Given the description of an element on the screen output the (x, y) to click on. 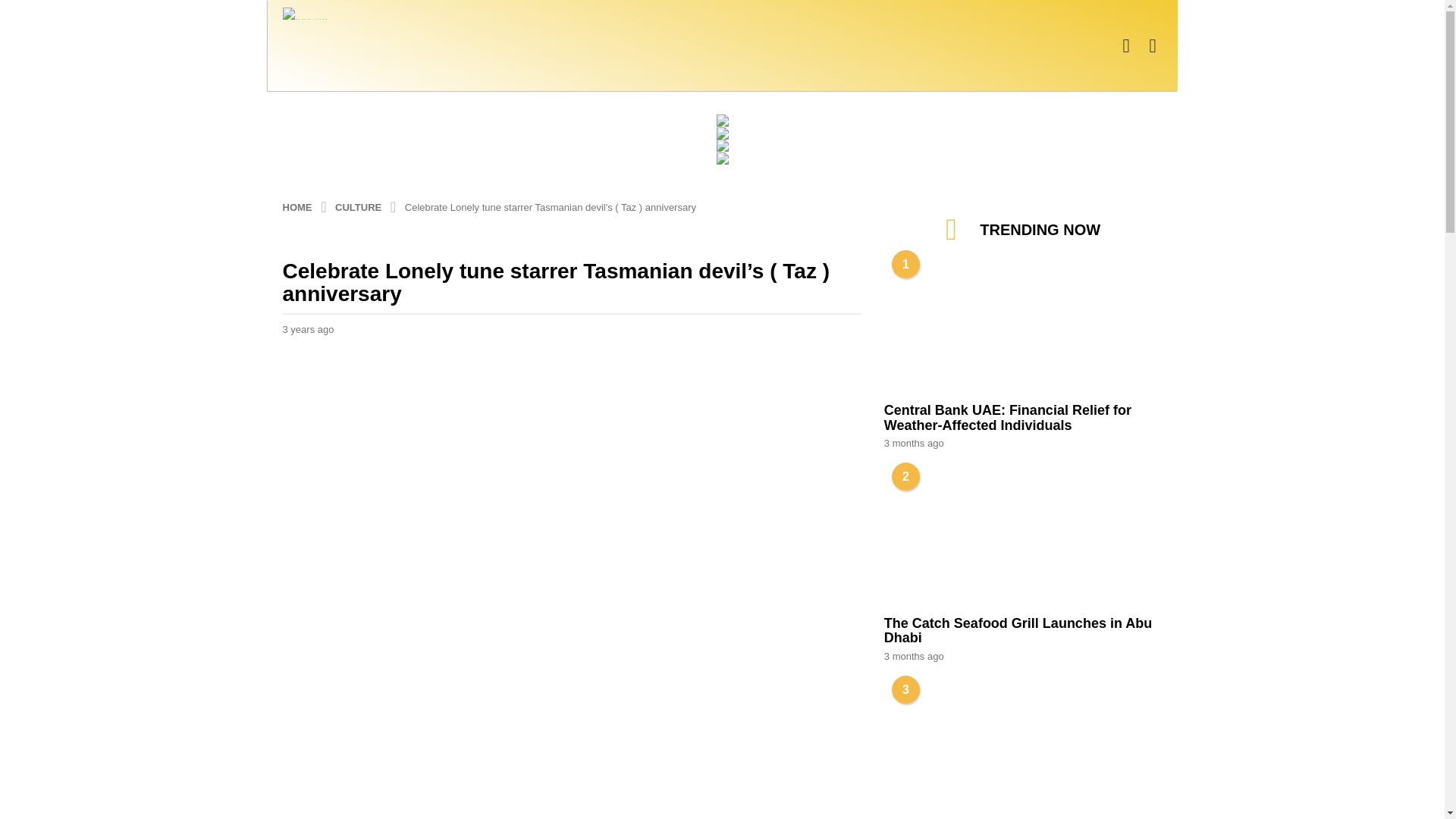
CULTURE (359, 206)
The Catch Seafood Grill Launches in Abu Dhabi (1022, 538)
HOME (298, 206)
